Given the description of an element on the screen output the (x, y) to click on. 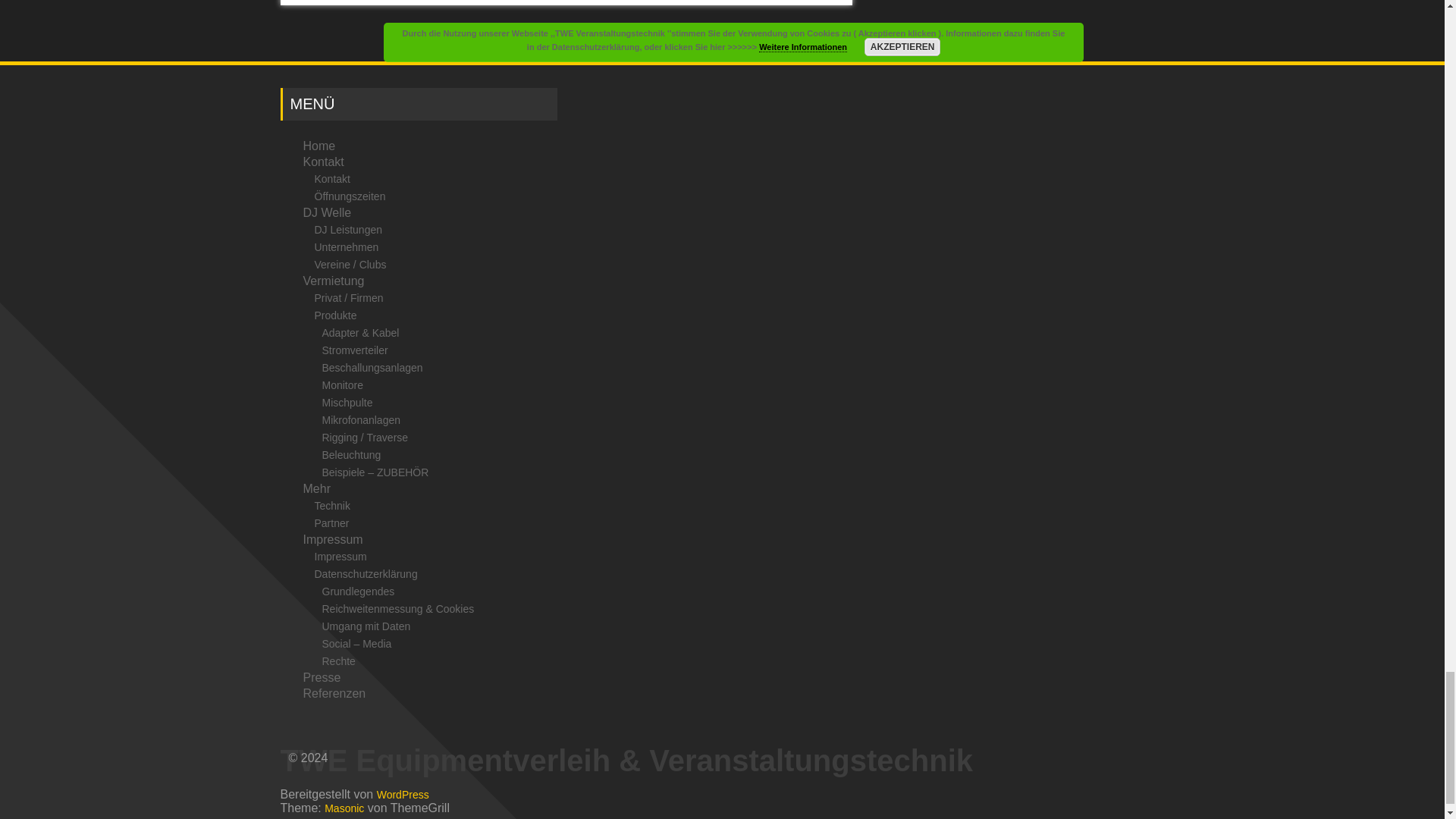
Masonic (344, 807)
WordPress (403, 793)
